Given the description of an element on the screen output the (x, y) to click on. 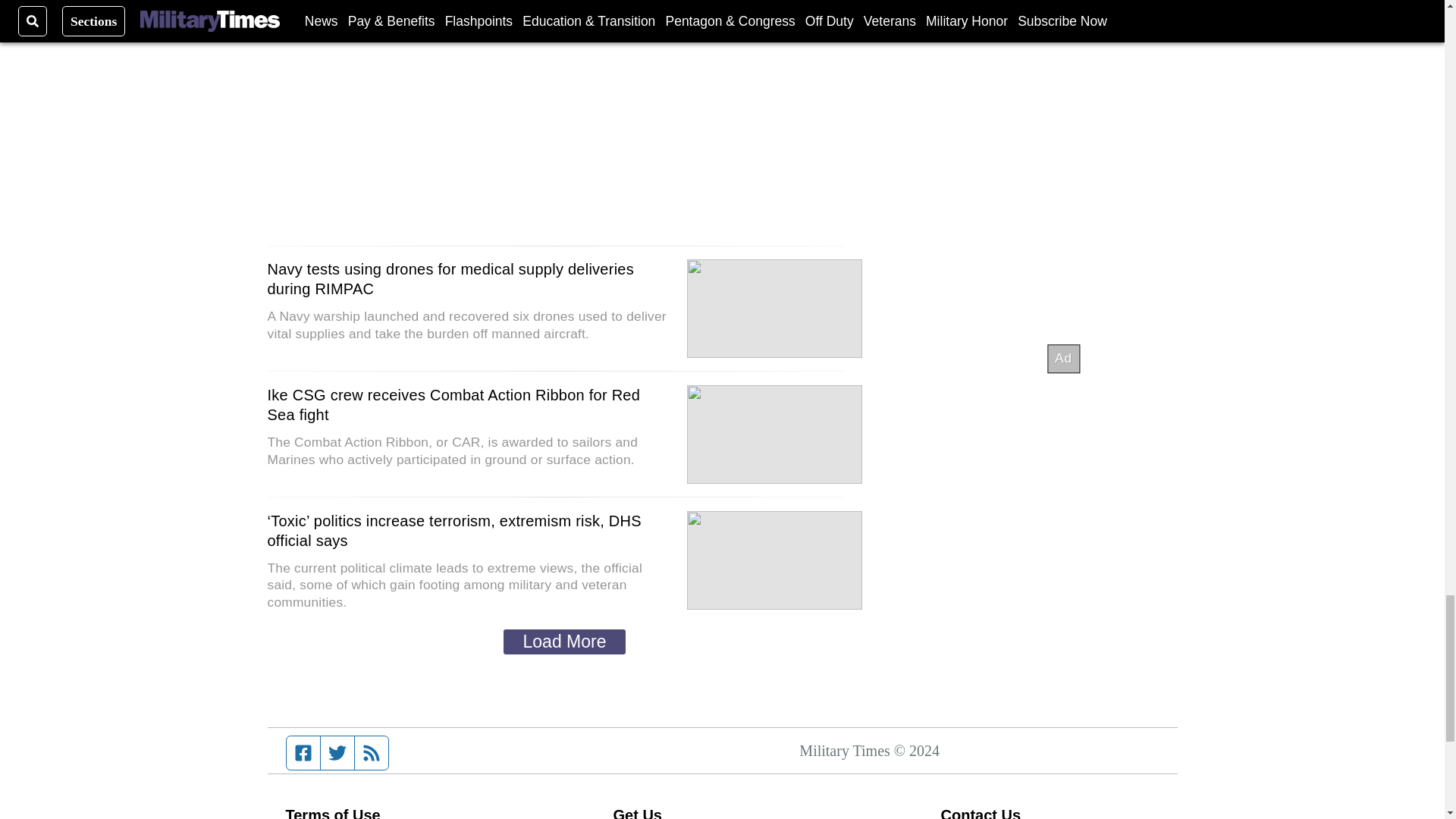
Twitter feed (336, 752)
RSS feed (371, 752)
Facebook page (303, 752)
